Given the description of an element on the screen output the (x, y) to click on. 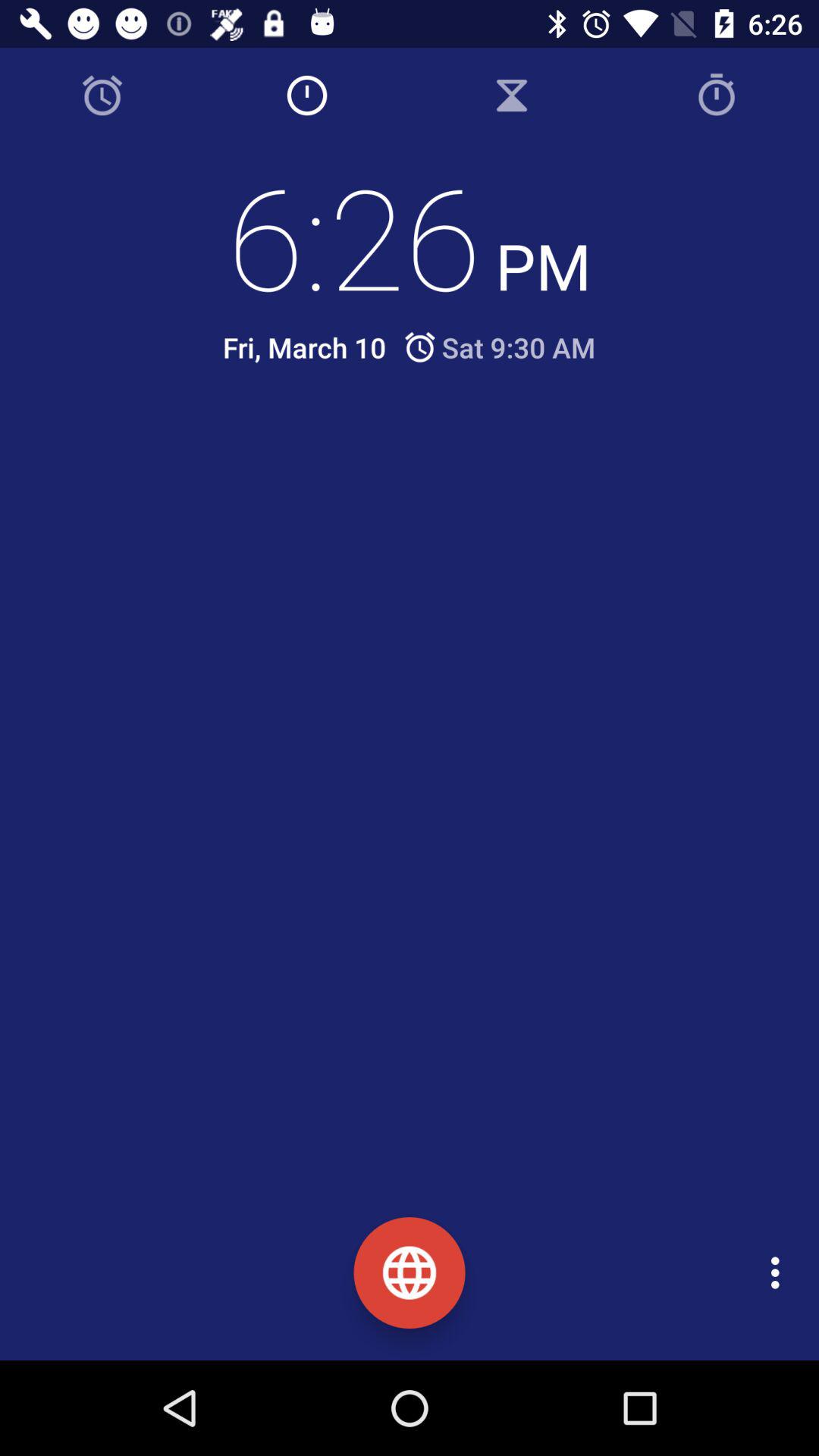
launch the icon to the left of the sat 9 30 icon (304, 347)
